Given the description of an element on the screen output the (x, y) to click on. 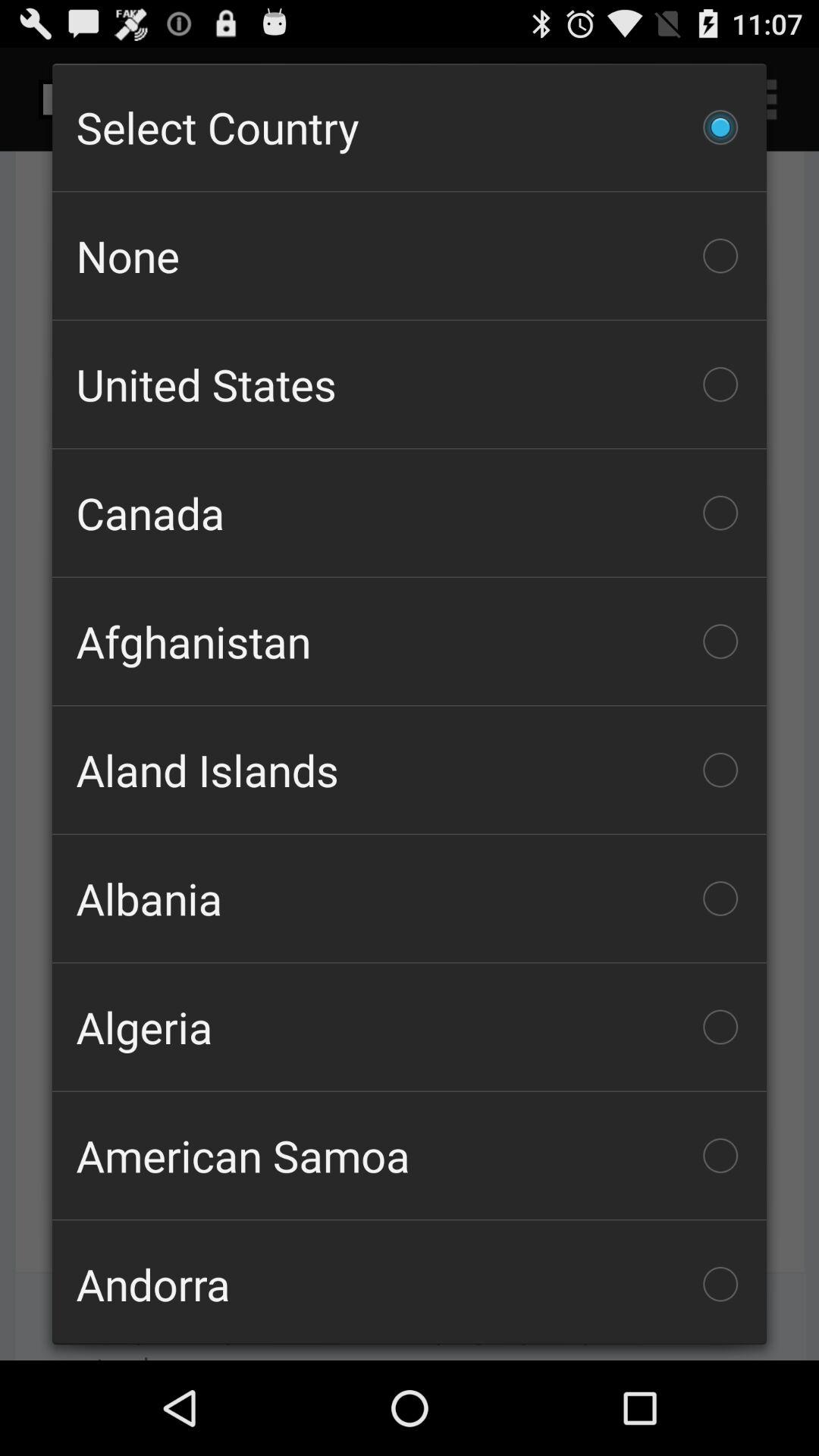
open the checkbox below select country (409, 255)
